Given the description of an element on the screen output the (x, y) to click on. 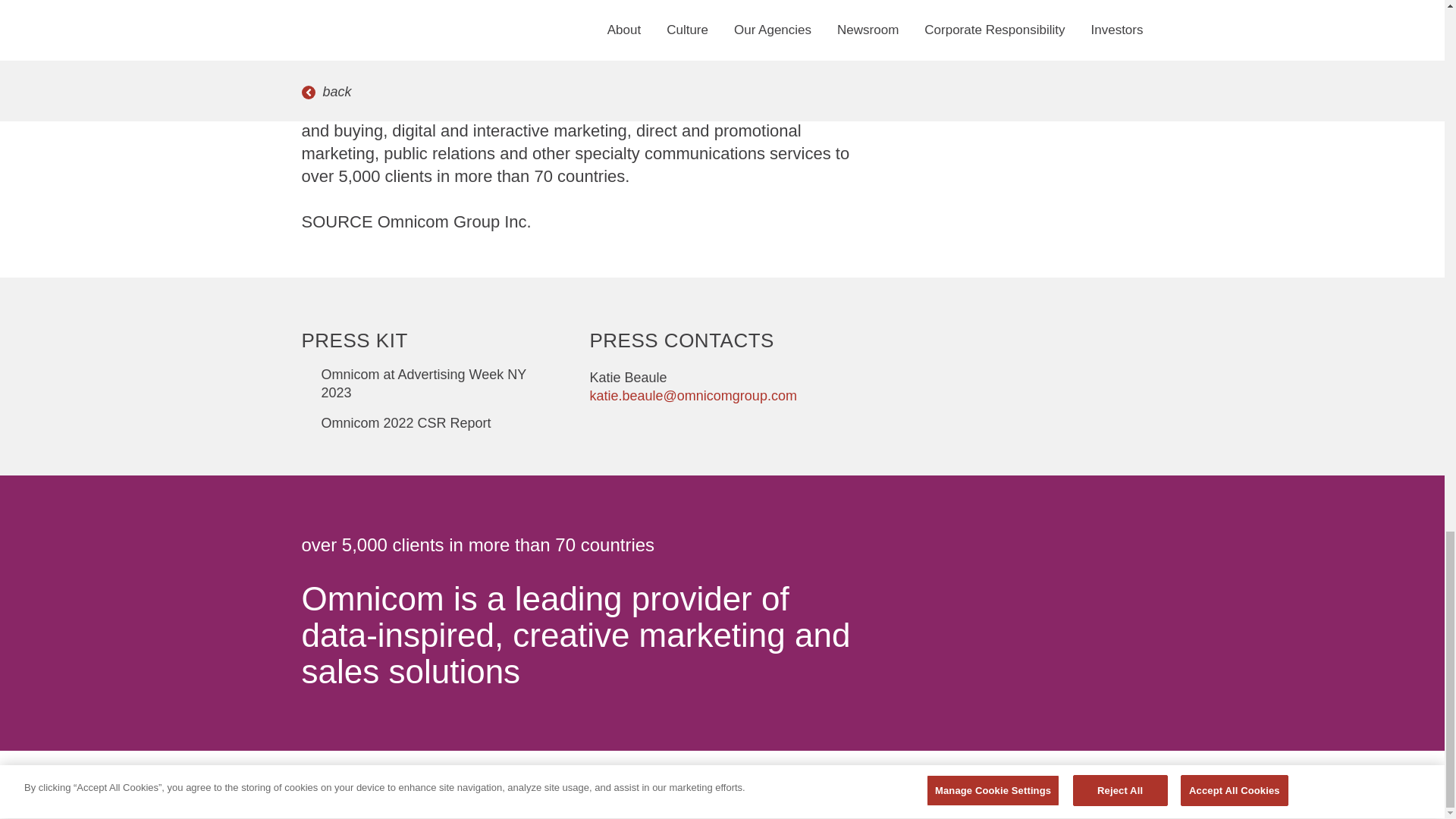
Omnicom 2022 CSR Report (396, 423)
Linkedin (1115, 604)
Linkedin (1115, 604)
Instagram (1043, 604)
Instagram (1043, 604)
Twitter (972, 604)
Reference link (426, 383)
Twitter (972, 604)
Reference link (396, 423)
Omnicom at Advertising Week NY 2023 (426, 383)
Instagram (1043, 604)
Twitter (972, 604)
Facebook (900, 604)
Linkedin (1115, 604)
www.omnicomgroup.com (526, 62)
